Given the description of an element on the screen output the (x, y) to click on. 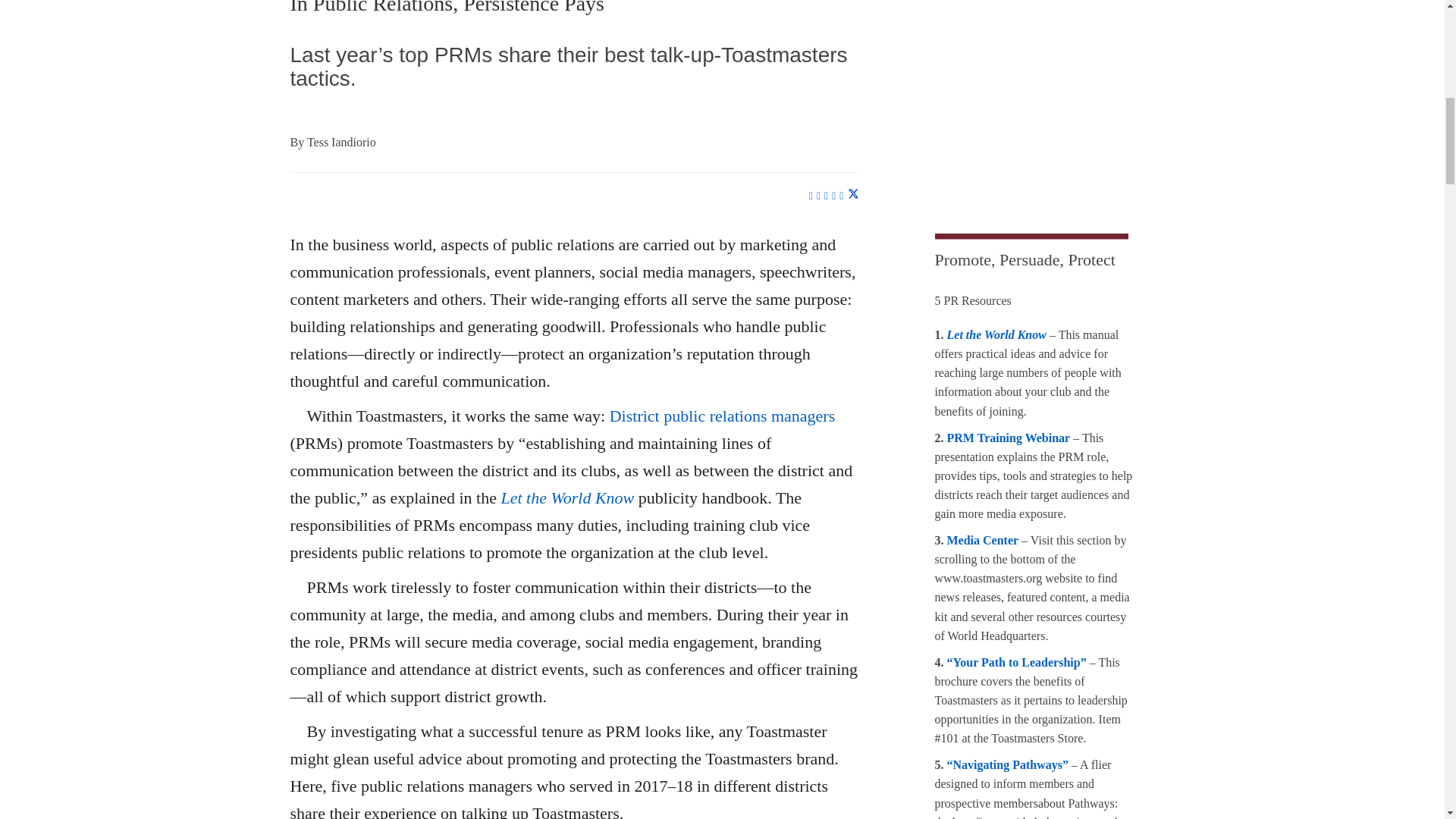
District public relations managers (722, 415)
Sorry, your browser does not support inline SVG. (1047, 238)
Tess Iandiorio (341, 141)
Let the World Know (566, 497)
